Given the description of an element on the screen output the (x, y) to click on. 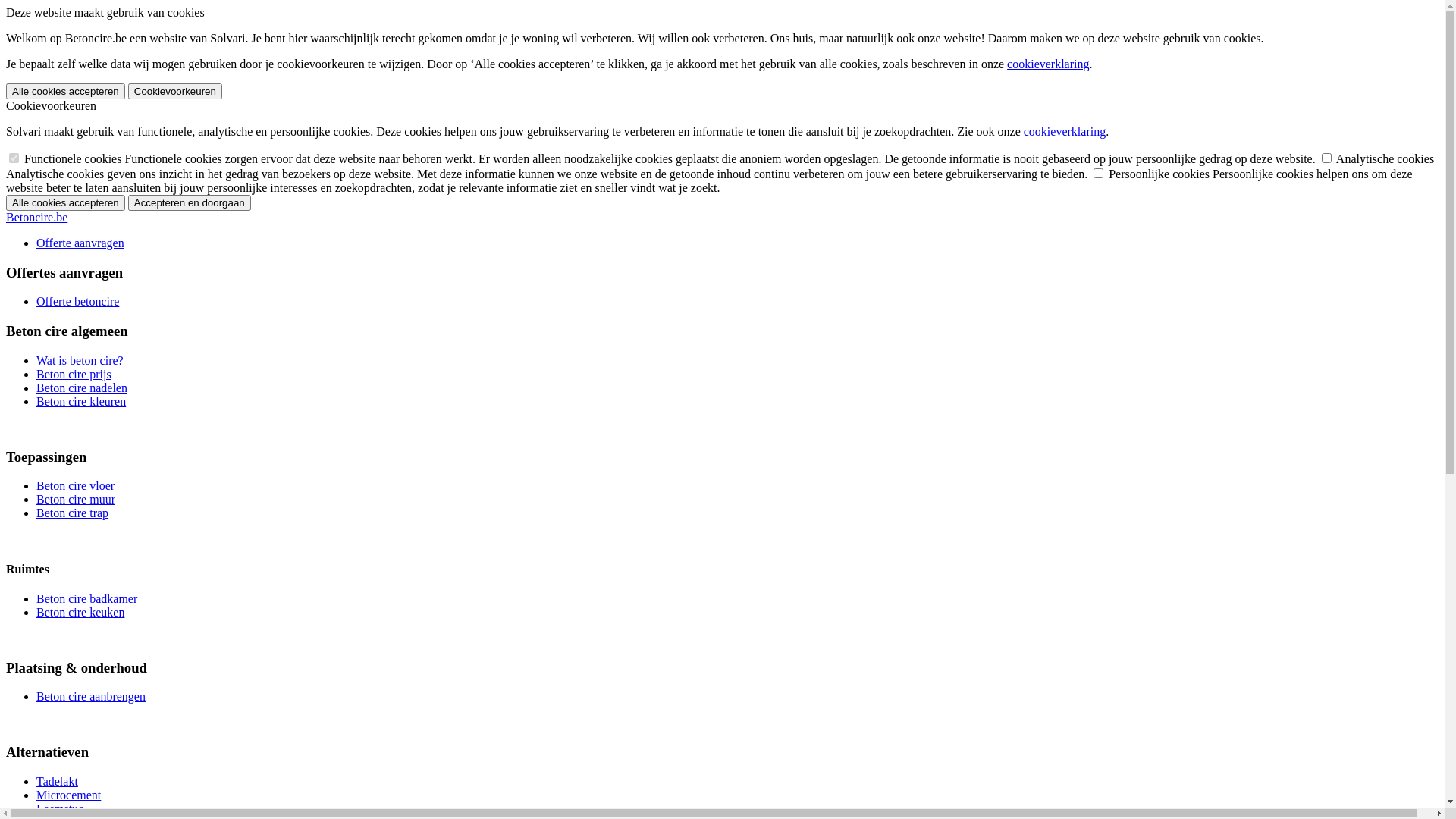
Cookievoorkeuren Element type: text (175, 91)
Beton cire vloer Element type: text (75, 485)
Beton cire keuken Element type: text (80, 611)
Offerte betoncire Element type: text (77, 300)
Offerte aanvragen Element type: text (80, 242)
cookieverklaring Element type: text (1064, 131)
Accepteren en doorgaan Element type: text (189, 202)
Leemstuc Element type: text (59, 808)
Beton cire kleuren Element type: text (80, 401)
Alle cookies accepteren Element type: text (65, 202)
Beton cire prijs Element type: text (73, 373)
Betoncire.be Element type: text (36, 216)
Alle cookies accepteren Element type: text (65, 91)
Microcement Element type: text (68, 794)
Tadelakt Element type: text (57, 781)
Beton cire trap Element type: text (72, 512)
Wat is beton cire? Element type: text (79, 360)
Beton cire muur Element type: text (75, 498)
Beton cire nadelen Element type: text (81, 387)
Beton cire aanbrengen Element type: text (90, 696)
cookieverklaring Element type: text (1047, 63)
Beton cire badkamer Element type: text (86, 598)
